Given the description of an element on the screen output the (x, y) to click on. 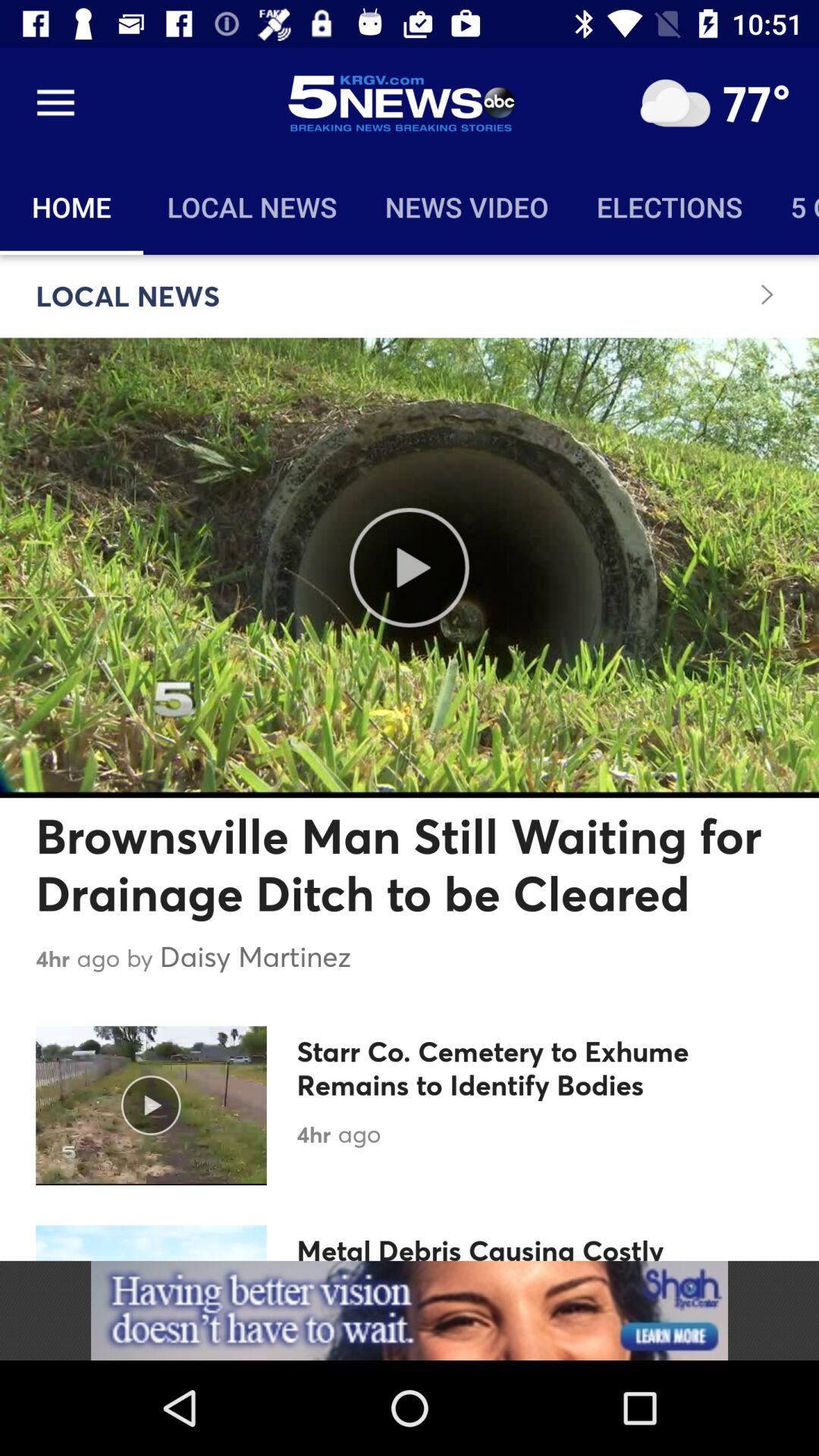
open weather (674, 103)
